Given the description of an element on the screen output the (x, y) to click on. 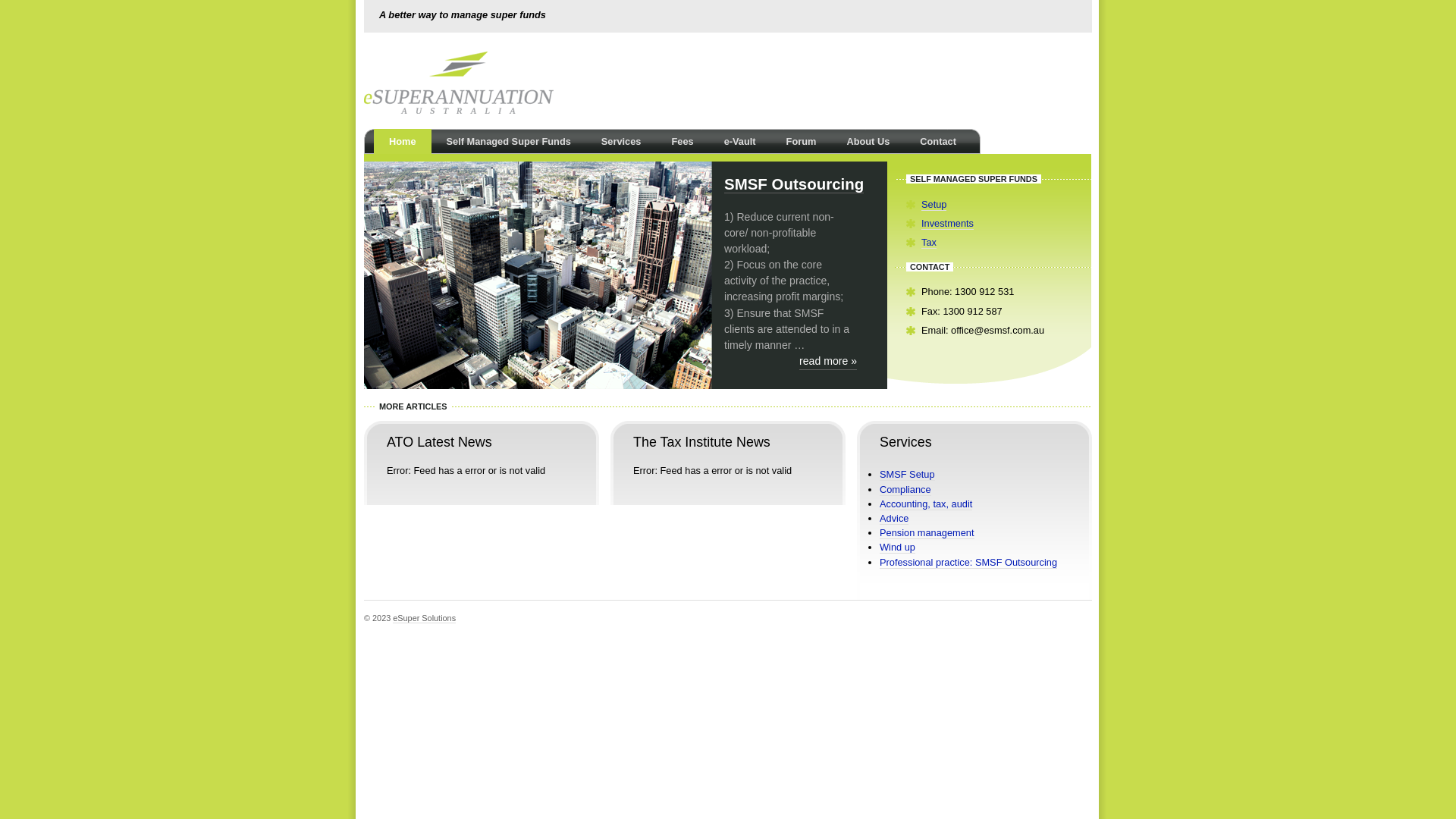
Advice Element type: text (893, 518)
About Us Element type: text (867, 141)
eSuper Solutions Element type: text (423, 618)
Contact Element type: text (937, 141)
Setup Element type: text (933, 204)
Investments Element type: text (947, 223)
Services Element type: text (621, 141)
Home Element type: text (402, 141)
Pension management Element type: text (926, 533)
Professional practice: SMSF Outsourcing Element type: text (968, 562)
Tax Element type: text (928, 242)
Wind up Element type: text (897, 547)
Self Managed Super Funds Element type: text (508, 141)
SMSF Setup Element type: text (907, 474)
Compliance Element type: text (905, 489)
Fees Element type: text (681, 141)
SMSF Outsourcing Element type: text (793, 184)
Accounting, tax, audit Element type: text (925, 504)
Forum Element type: text (801, 141)
e-Vault Element type: text (740, 141)
